Given the description of an element on the screen output the (x, y) to click on. 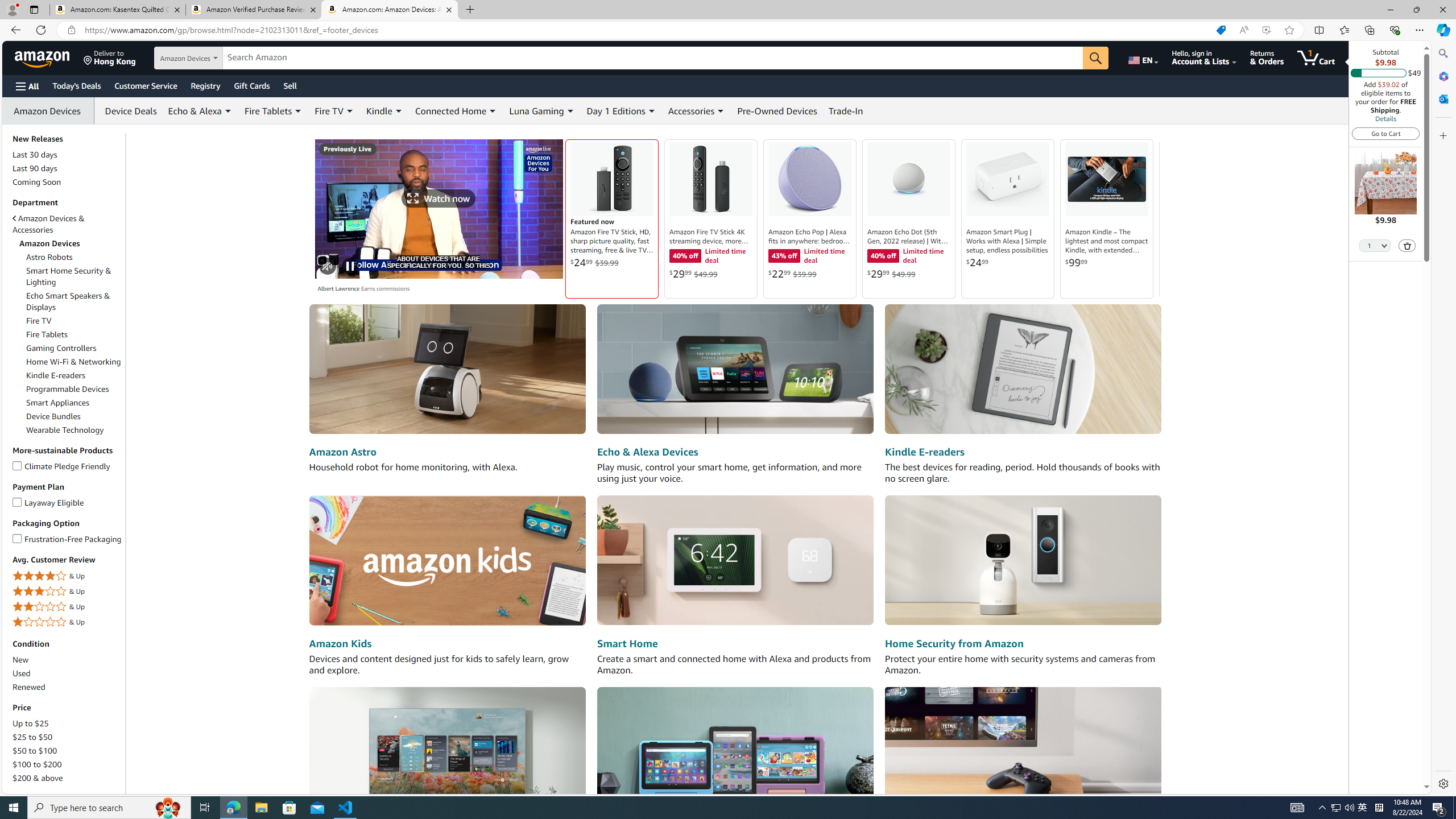
Smart Appliances (57, 402)
Wearable Technology (74, 429)
Coming Soon (67, 181)
Kindle e-reader devices (1022, 369)
Earns commissions (385, 288)
Layaway Eligible (17, 500)
Amazon Devices & Accessories (67, 223)
Deliver to Hong Kong (109, 57)
Frustration-Free Packaging Frustration-Free Packaging (67, 538)
$25 to $50 (67, 736)
Kindle e-reader devices (1022, 369)
Search Amazon (652, 57)
